Given the description of an element on the screen output the (x, y) to click on. 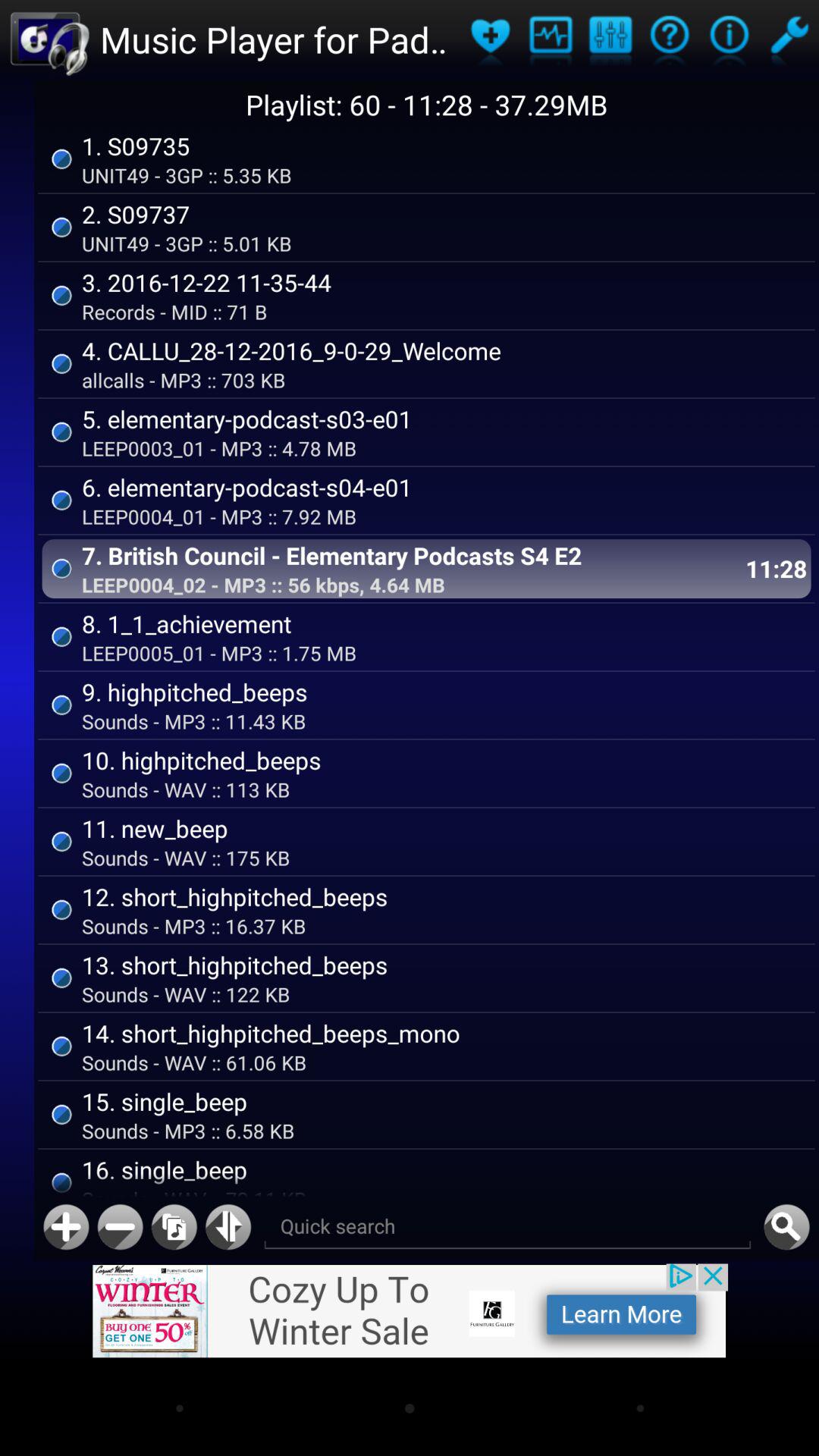
add an item to the list (66, 1226)
